Given the description of an element on the screen output the (x, y) to click on. 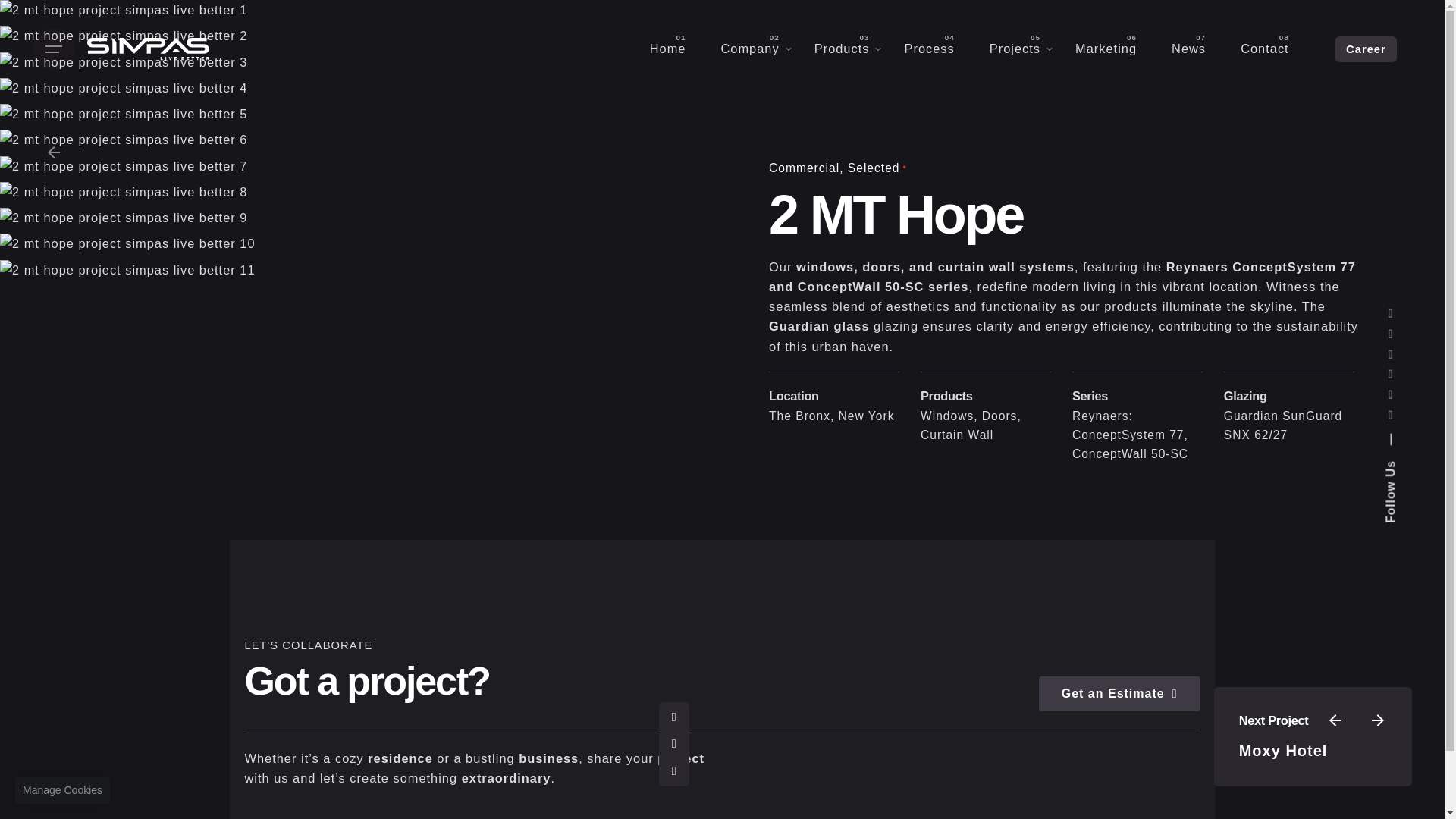
Company (749, 49)
Contact (1264, 49)
Products (841, 49)
Projects (1015, 49)
News (1188, 49)
Home (667, 49)
Marketing (1106, 49)
Process (928, 49)
